Given the description of an element on the screen output the (x, y) to click on. 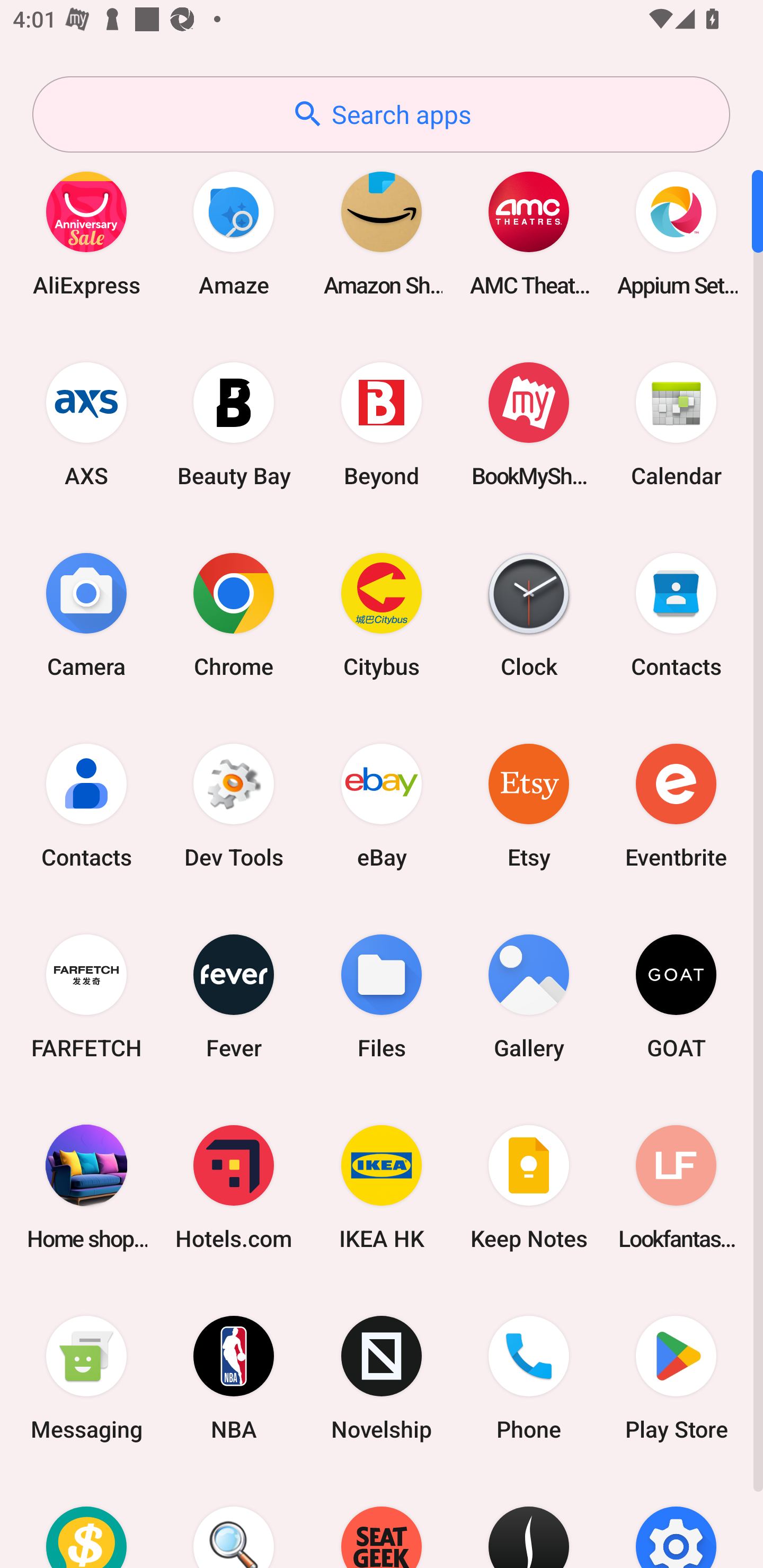
  Search apps (381, 114)
AliExpress (86, 233)
Amaze (233, 233)
Amazon Shopping (381, 233)
AMC Theatres (528, 233)
Appium Settings (676, 233)
AXS (86, 424)
Beauty Bay (233, 424)
Beyond (381, 424)
BookMyShow (528, 424)
Calendar (676, 424)
Camera (86, 614)
Chrome (233, 614)
Citybus (381, 614)
Clock (528, 614)
Contacts (676, 614)
Contacts (86, 805)
Dev Tools (233, 805)
eBay (381, 805)
Etsy (528, 805)
Eventbrite (676, 805)
FARFETCH (86, 996)
Fever (233, 996)
Files (381, 996)
Gallery (528, 996)
GOAT (676, 996)
Home shopping (86, 1186)
Hotels.com (233, 1186)
IKEA HK (381, 1186)
Keep Notes (528, 1186)
Lookfantastic (676, 1186)
Messaging (86, 1377)
NBA (233, 1377)
Novelship (381, 1377)
Phone (528, 1377)
Play Store (676, 1377)
